Given the description of an element on the screen output the (x, y) to click on. 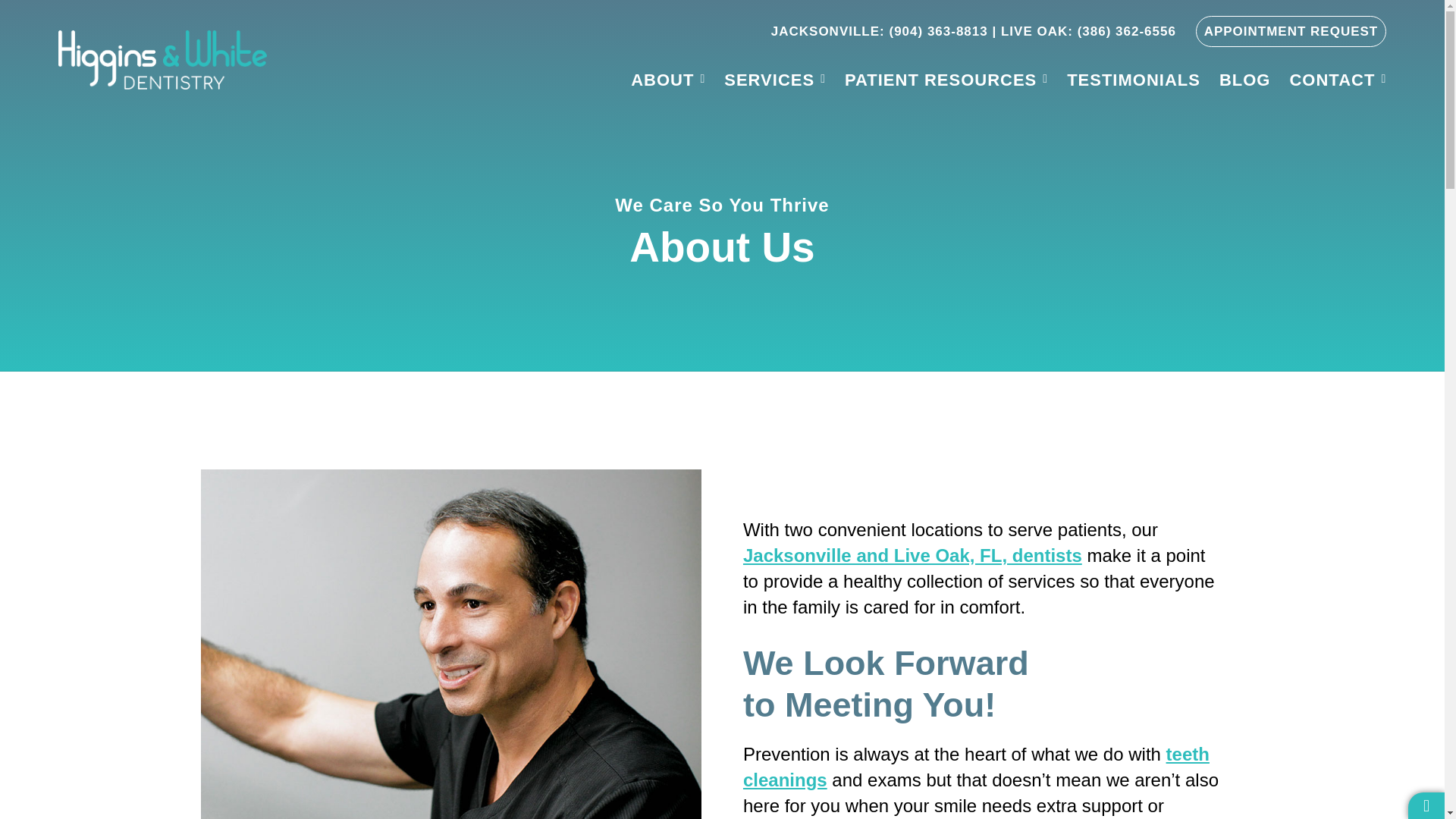
APPOINTMENT REQUEST (1291, 30)
LIVE OAK: (1037, 31)
SERVICES (774, 80)
JACKSONVILLE: (828, 31)
ABOUT (667, 80)
